Given the description of an element on the screen output the (x, y) to click on. 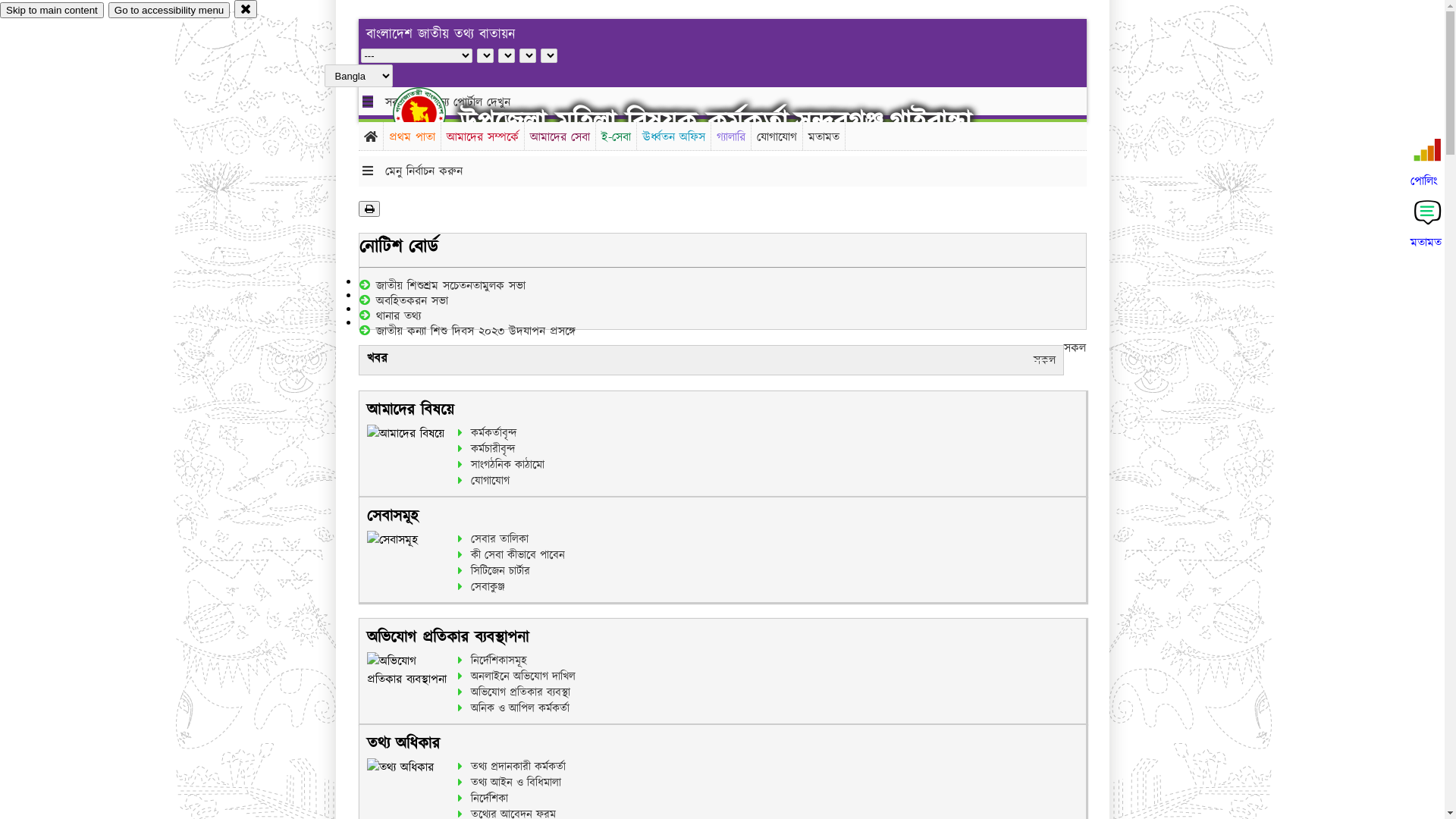

                
             Element type: hover (431, 112)
close Element type: hover (245, 9)
Skip to main content Element type: text (51, 10)
Go to accessibility menu Element type: text (168, 10)
